Given the description of an element on the screen output the (x, y) to click on. 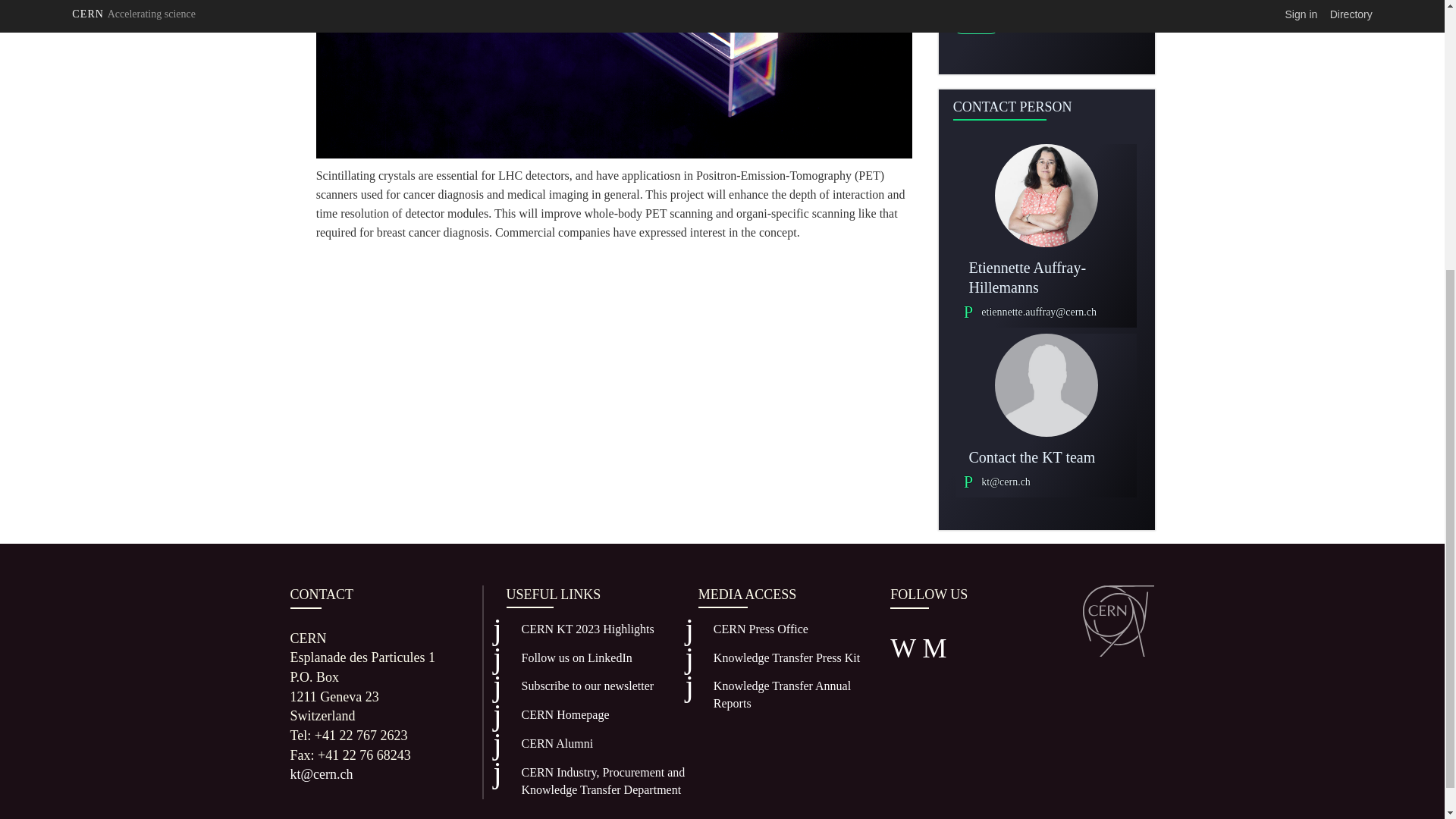
The High-Energy Network (550, 749)
home.cern (558, 720)
CERN (1118, 620)
